Given the description of an element on the screen output the (x, y) to click on. 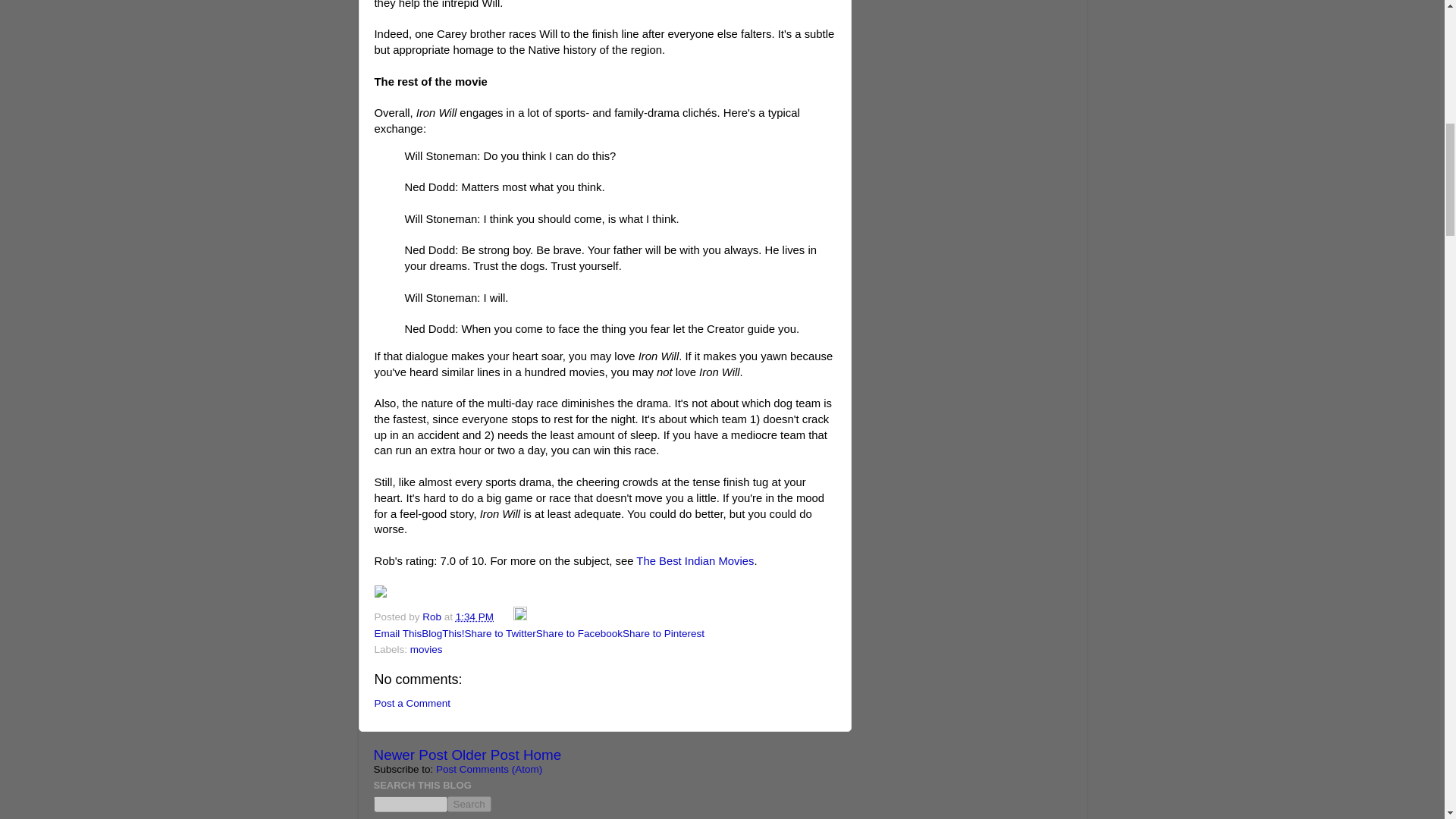
BlogThis! (443, 633)
Share to Facebook (579, 633)
Older Post (484, 754)
Share to Twitter (499, 633)
1:34 PM (474, 616)
Share to Facebook (579, 633)
Older Post (484, 754)
Edit Post (520, 616)
Rob (433, 616)
search (469, 804)
Newer Post (409, 754)
BlogThis! (443, 633)
Search (469, 804)
Share to Pinterest (663, 633)
Email This (398, 633)
